Given the description of an element on the screen output the (x, y) to click on. 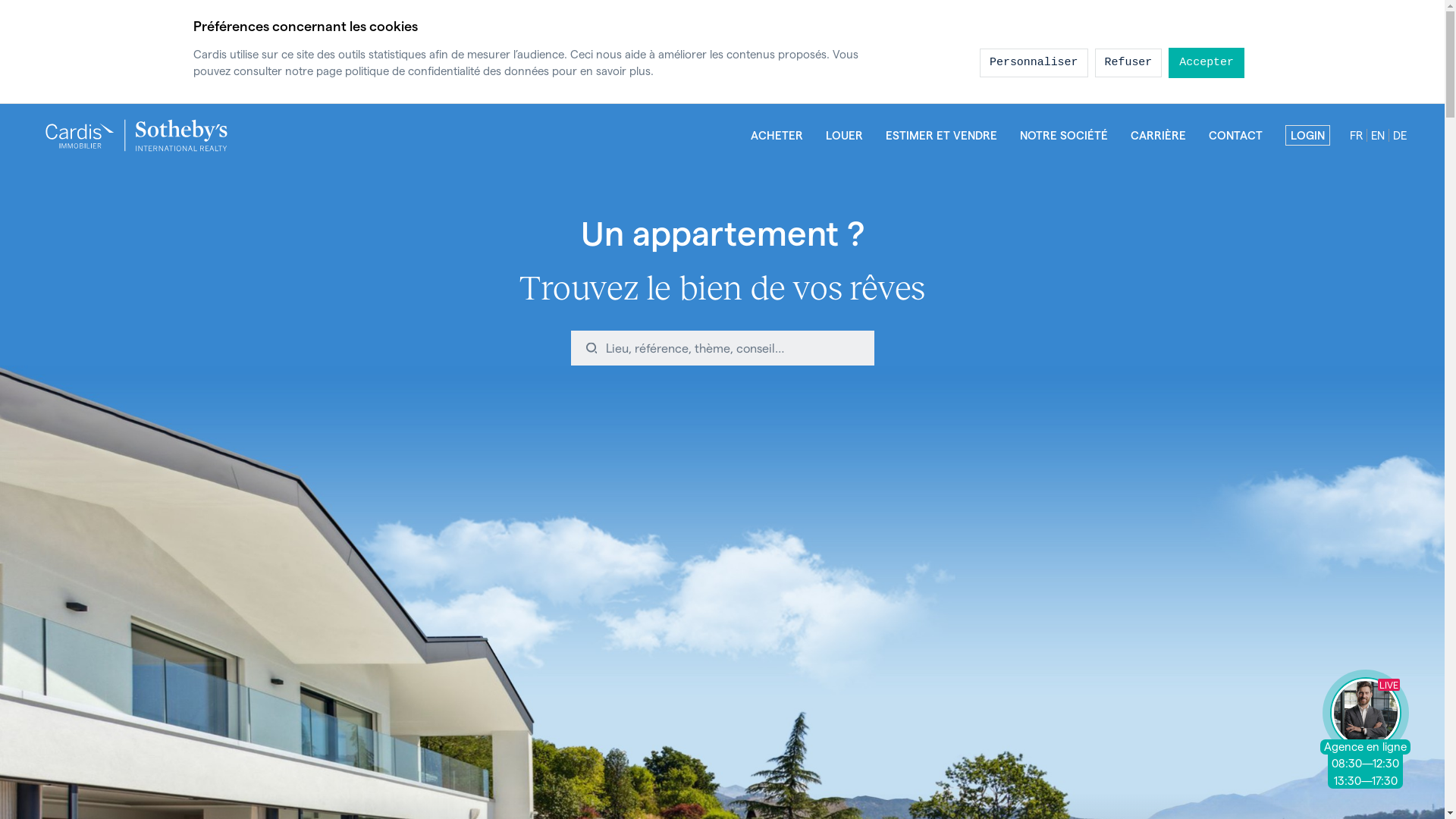
CONTACT Element type: text (1235, 134)
LOGIN Element type: text (1307, 134)
LOUER Element type: text (843, 134)
Personnaliser Element type: text (1033, 63)
ACHETER Element type: text (776, 134)
LIVE Element type: text (1365, 712)
ESTIMER ET VENDRE Element type: text (941, 134)
EN Element type: text (1377, 134)
Accepter Element type: text (1206, 62)
Refuser Element type: text (1128, 63)
FR Element type: text (1355, 134)
DE Element type: text (1399, 134)
